Given the description of an element on the screen output the (x, y) to click on. 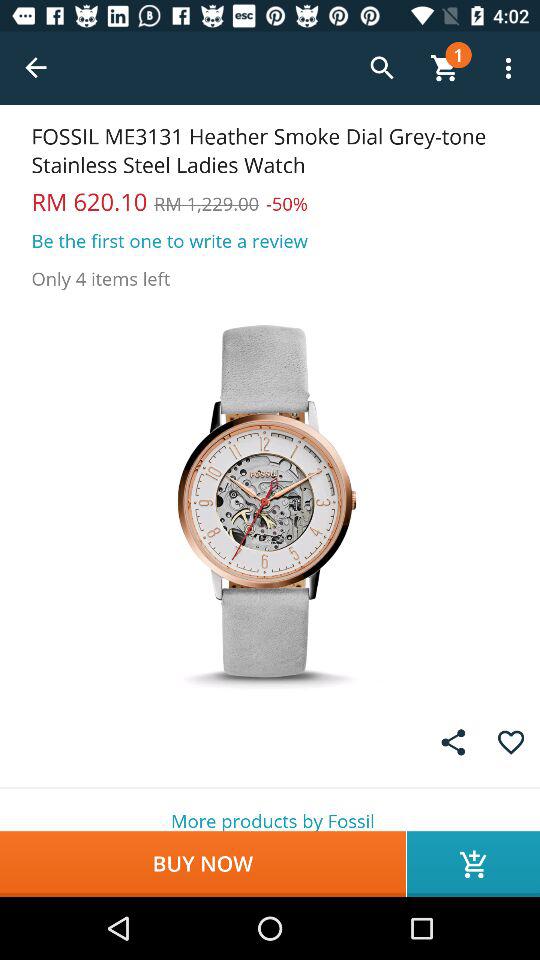
favorite item (510, 742)
